Given the description of an element on the screen output the (x, y) to click on. 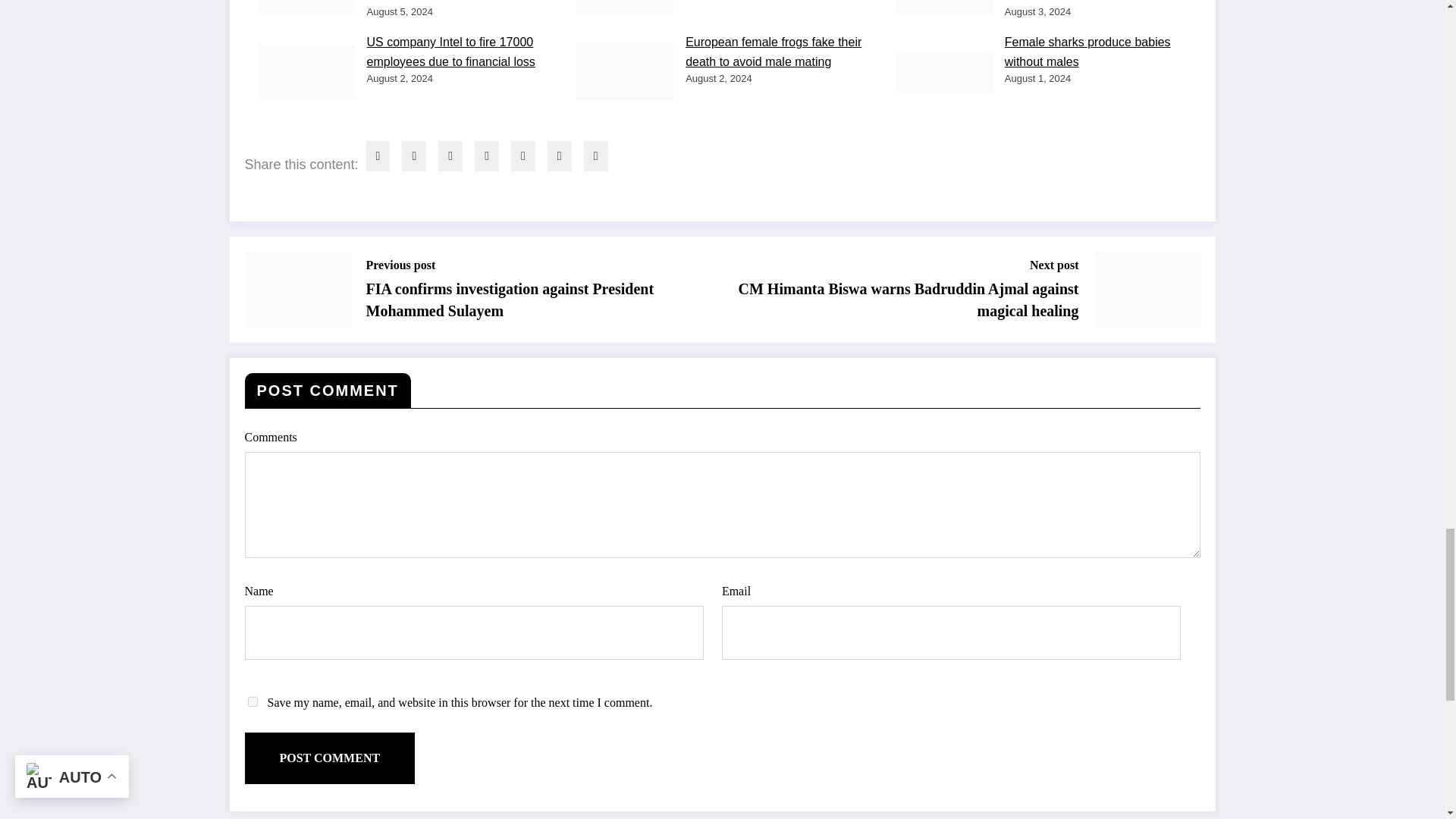
European female frogs fake their death to avoid male mating (773, 51)
Female sharks produce babies without males (1087, 51)
yes (252, 701)
Post Comment (329, 757)
